Given the description of an element on the screen output the (x, y) to click on. 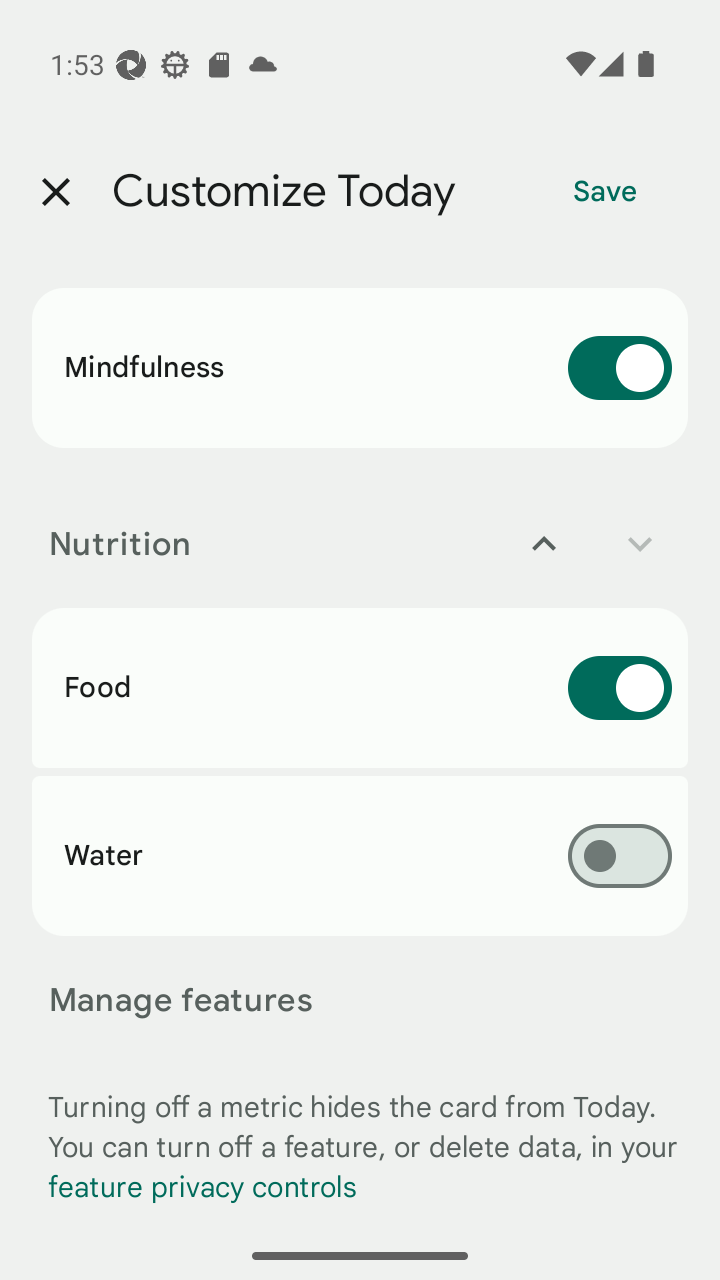
Close (55, 191)
Save (605, 191)
Mindfulness (359, 368)
Move Nutrition up (543, 543)
Move Nutrition down (639, 543)
Food (359, 688)
Water (359, 855)
